Given the description of an element on the screen output the (x, y) to click on. 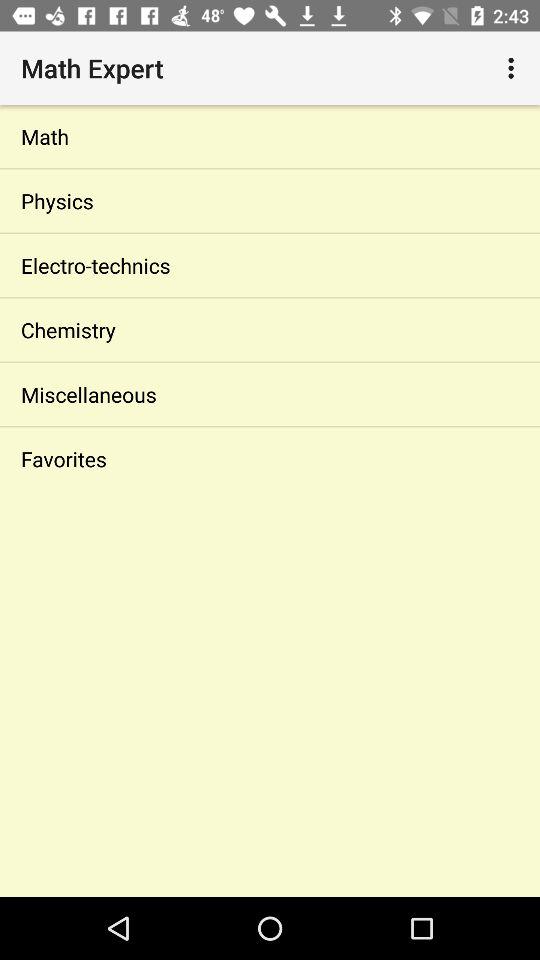
turn off app above the math icon (513, 67)
